Given the description of an element on the screen output the (x, y) to click on. 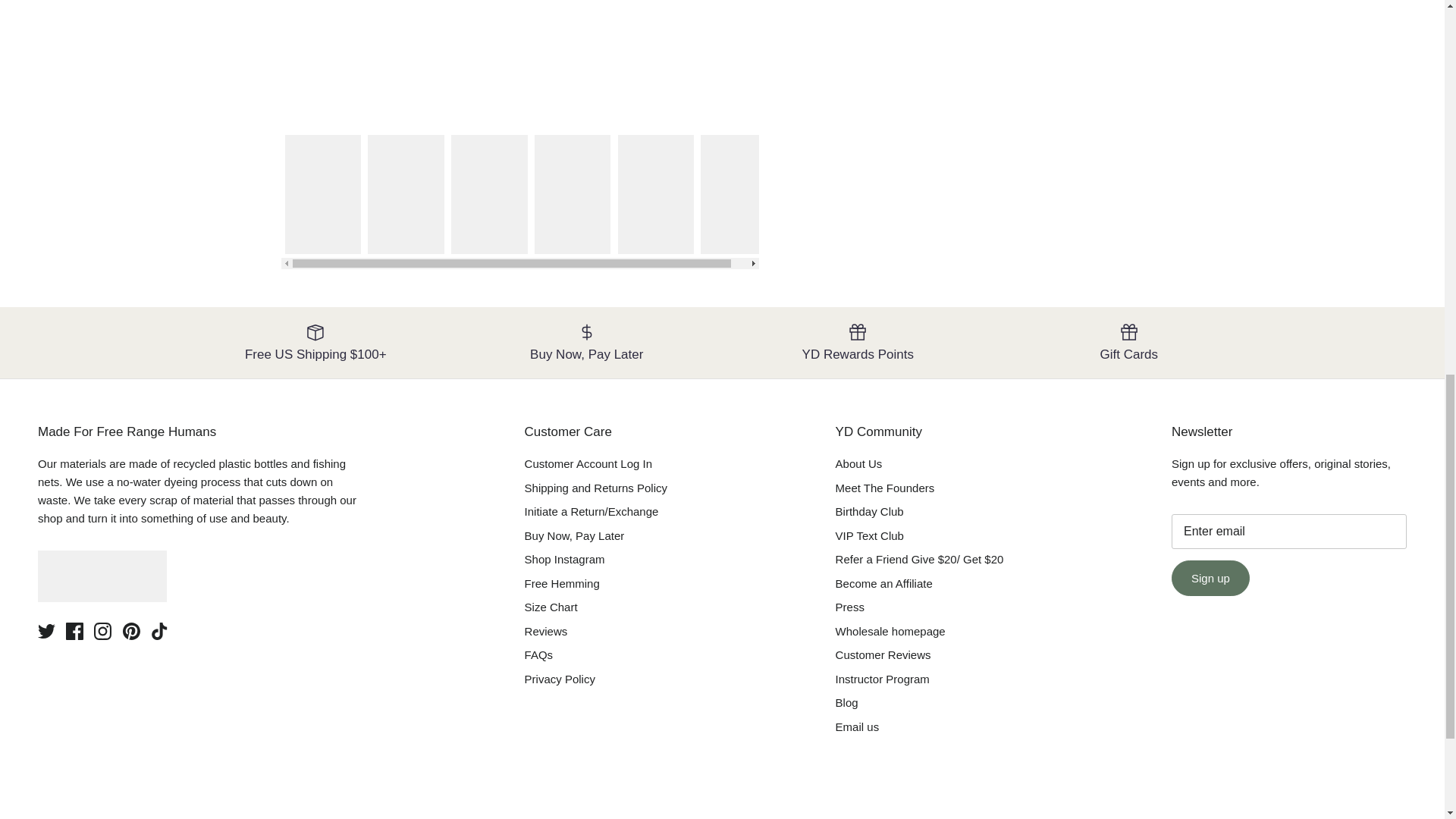
Pinterest (130, 630)
Facebook (73, 630)
Twitter (46, 630)
Instagram (103, 630)
